Given the description of an element on the screen output the (x, y) to click on. 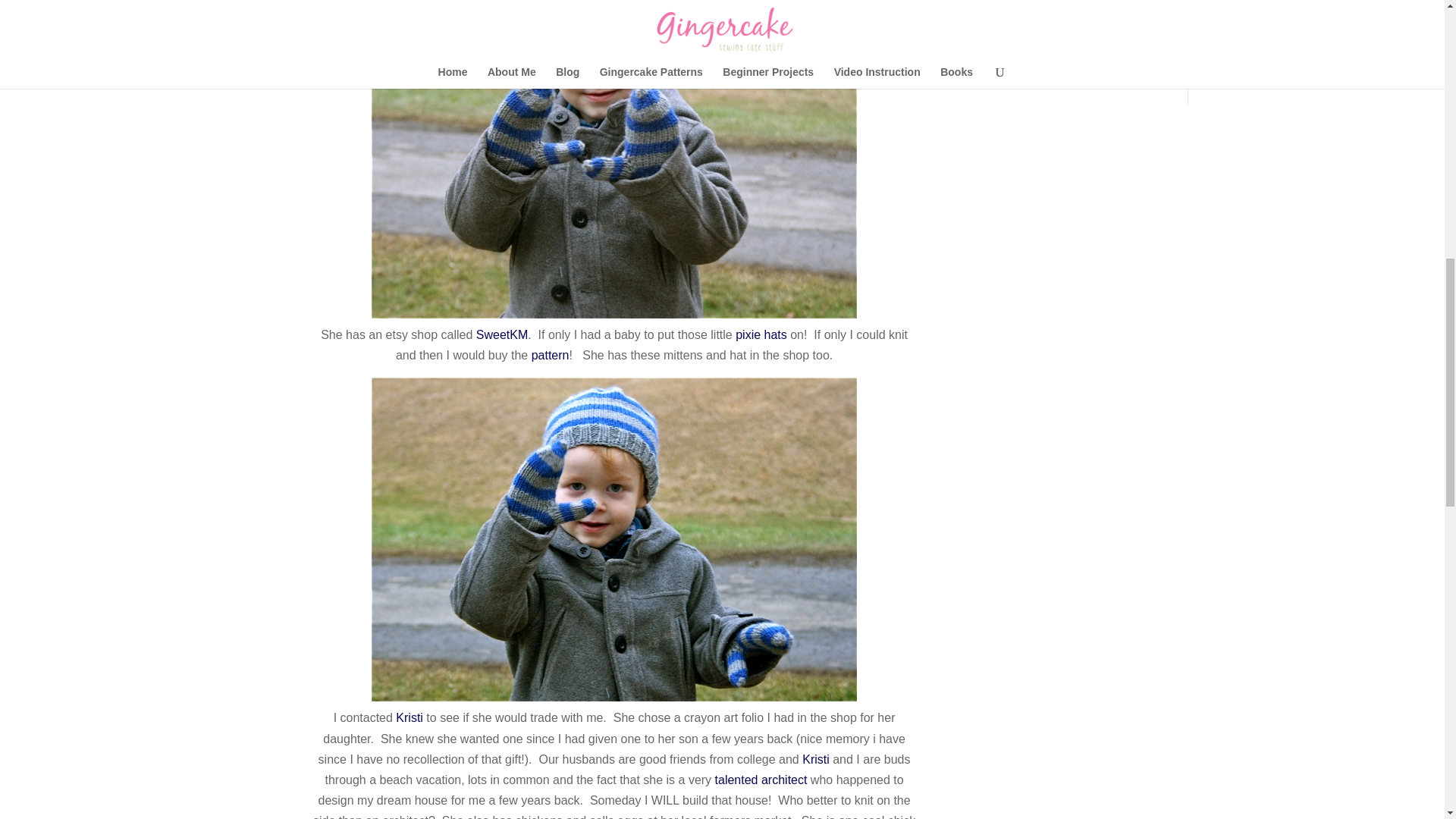
pattern (550, 354)
pixie hats (761, 334)
Kristi (411, 717)
talented architect (761, 779)
SweetKM (501, 334)
Kristi (815, 758)
